Given the description of an element on the screen output the (x, y) to click on. 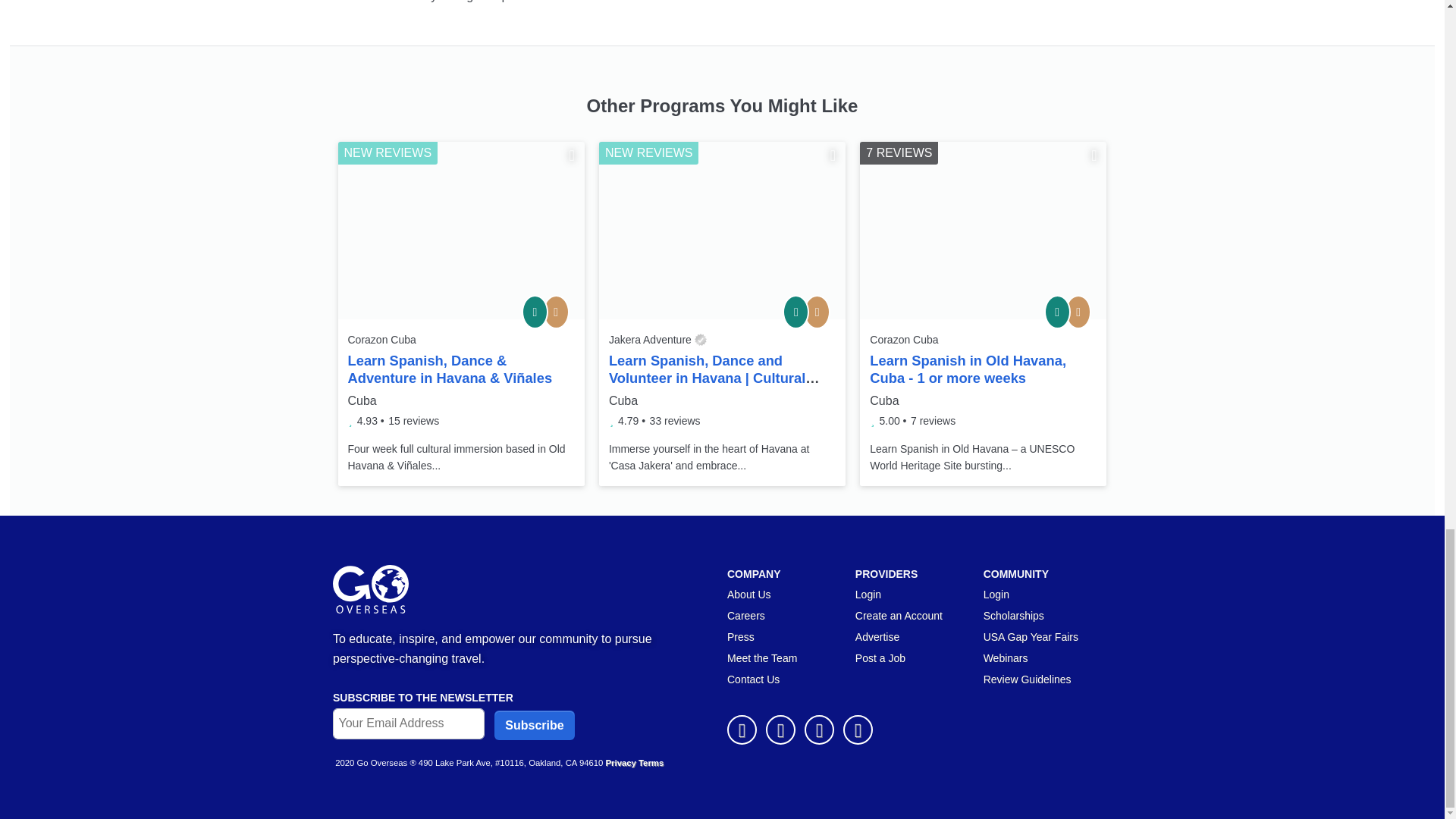
Add this program to your wish list. (571, 155)
Subscribe (534, 725)
Add this program to your wish list. (832, 155)
Add this program to your wish list. (1093, 155)
